Given the description of an element on the screen output the (x, y) to click on. 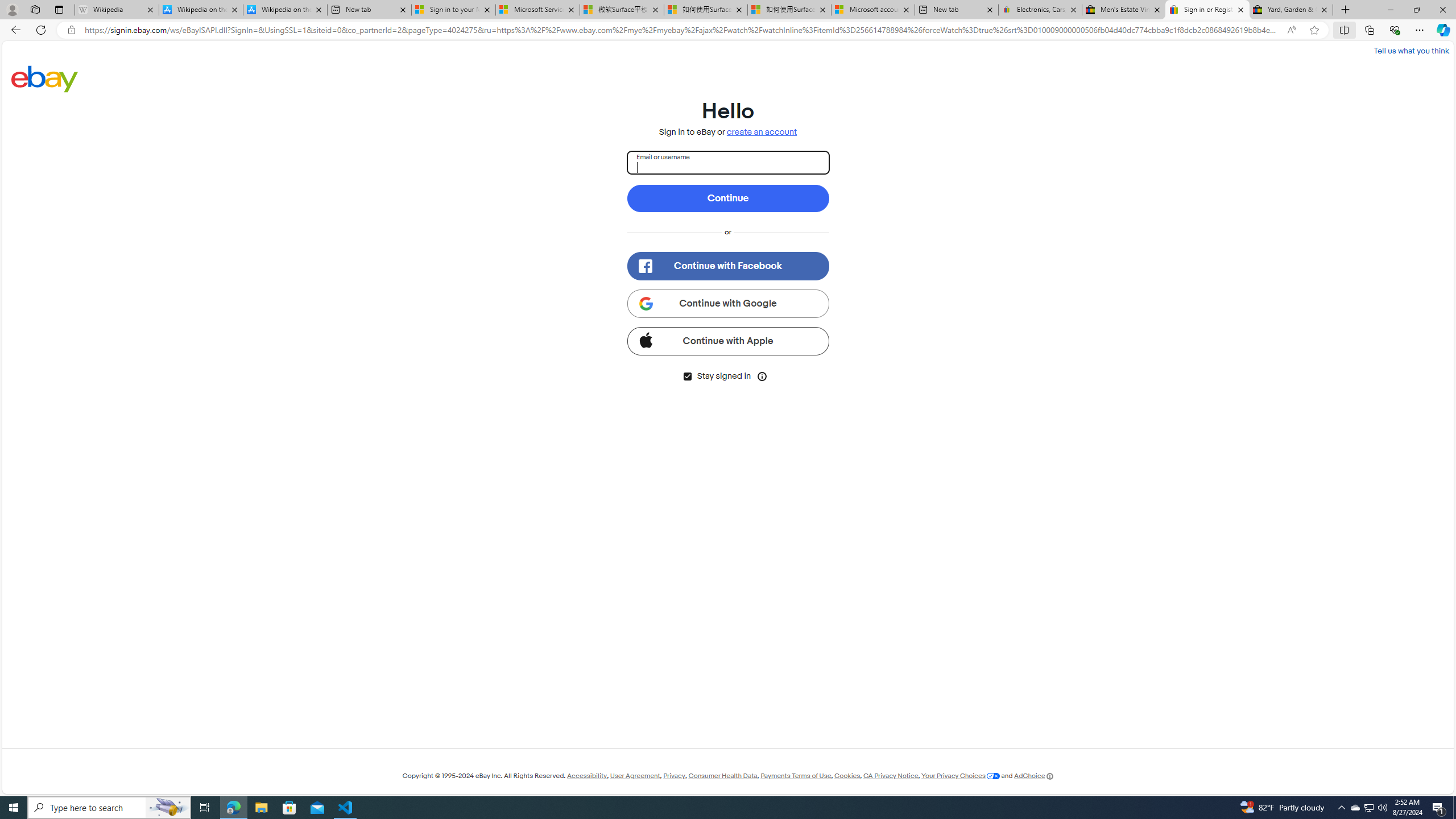
Continue with Facebook (727, 266)
CA Privacy Notice (890, 775)
User Agreement (635, 775)
Stay signed in (687, 376)
Continue with Google (727, 303)
